Given the description of an element on the screen output the (x, y) to click on. 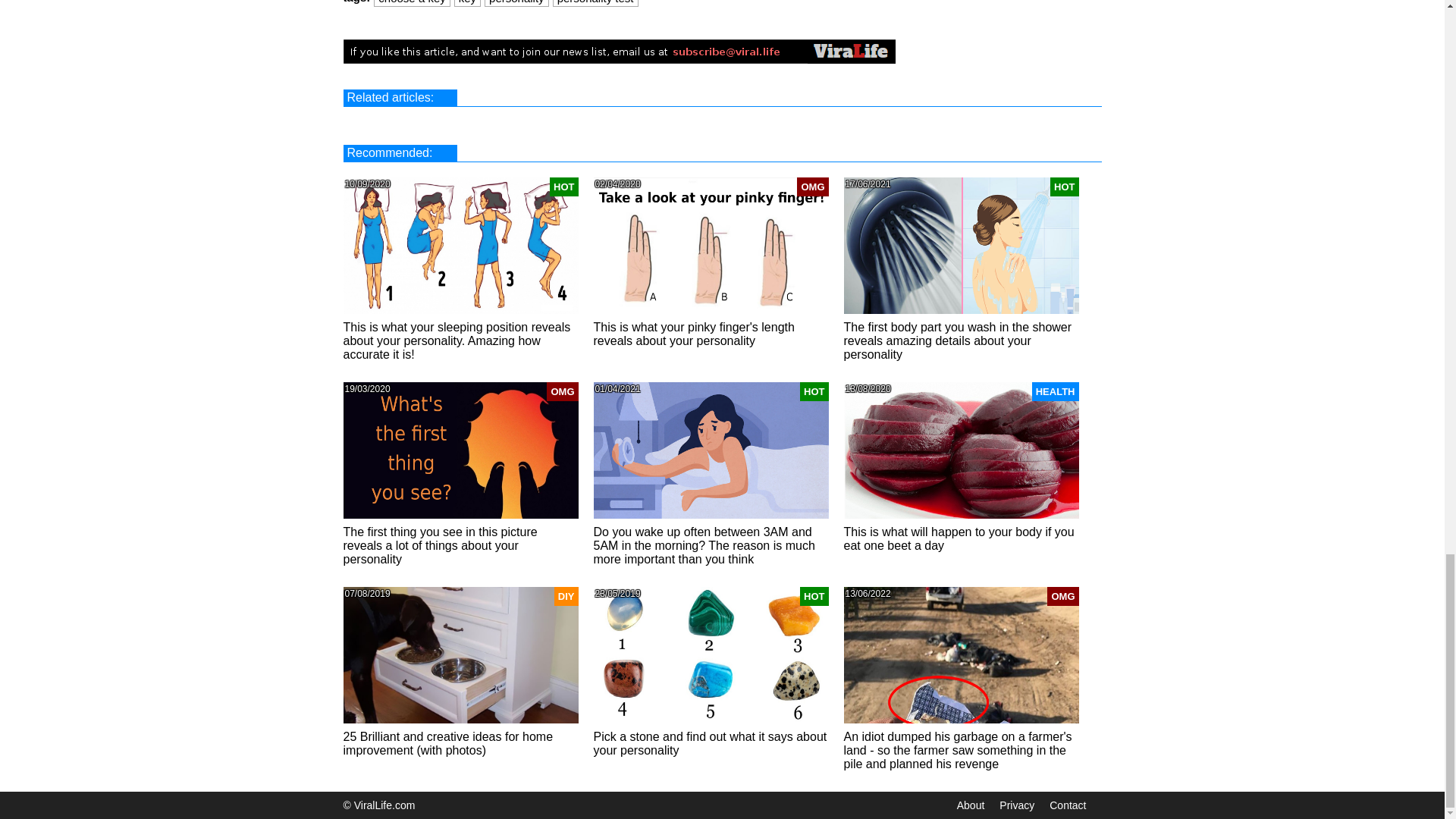
choose a key (411, 2)
personality test (595, 2)
personality (516, 2)
personality test (595, 2)
